Given the description of an element on the screen output the (x, y) to click on. 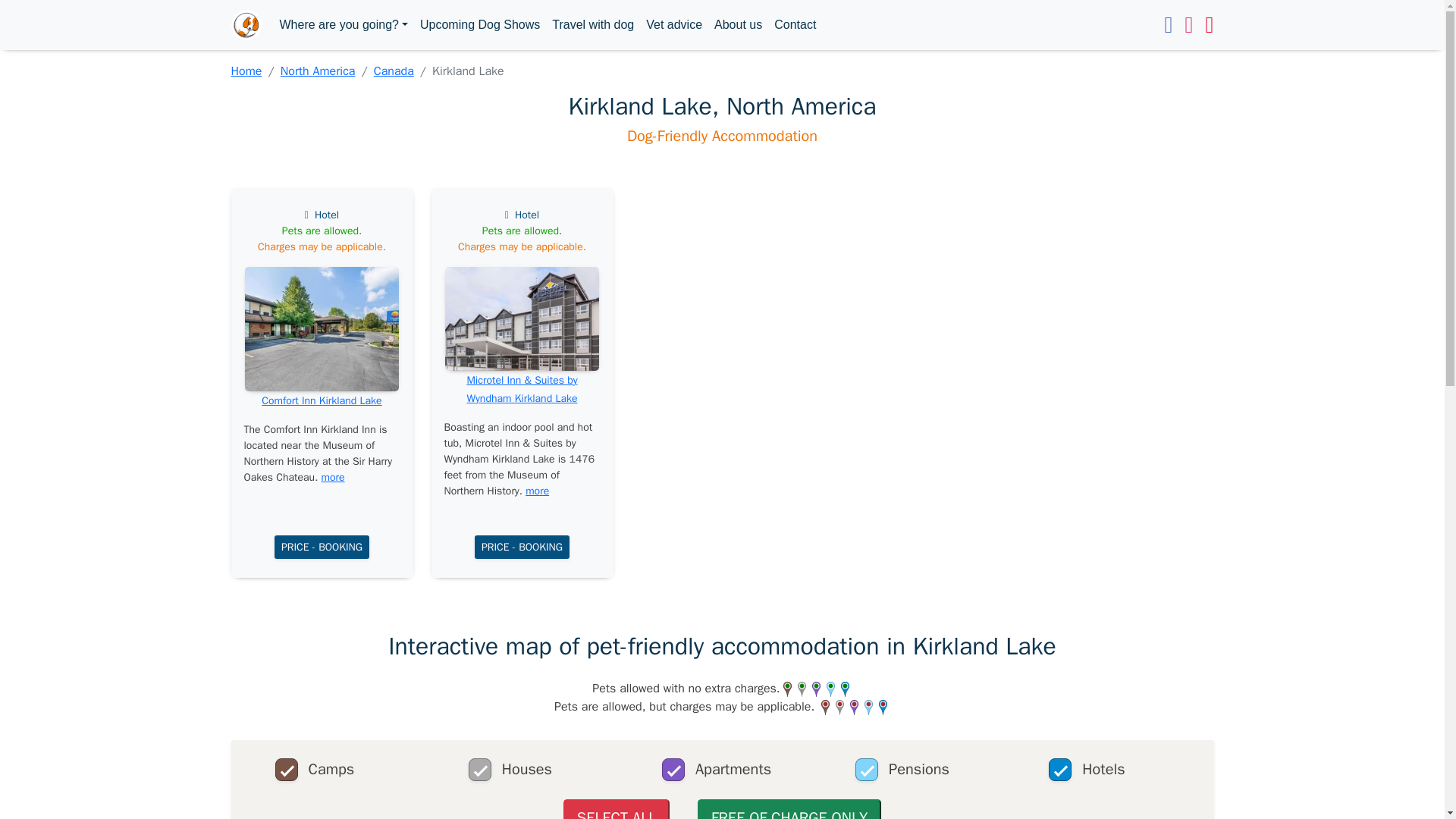
Home (246, 70)
About us (737, 24)
Travel with dog (593, 24)
more (536, 490)
PRICE - BOOKING (322, 546)
Vet advice (673, 24)
FREE OF CHARGE ONLY (788, 809)
PRICE - BOOKING (521, 546)
Comfort Inn Kirkland Lake (321, 400)
Upcoming Dog Shows (479, 24)
Where are you going? (343, 24)
North America (318, 70)
Contact (795, 24)
SELECT ALL (616, 809)
more (333, 477)
